Given the description of an element on the screen output the (x, y) to click on. 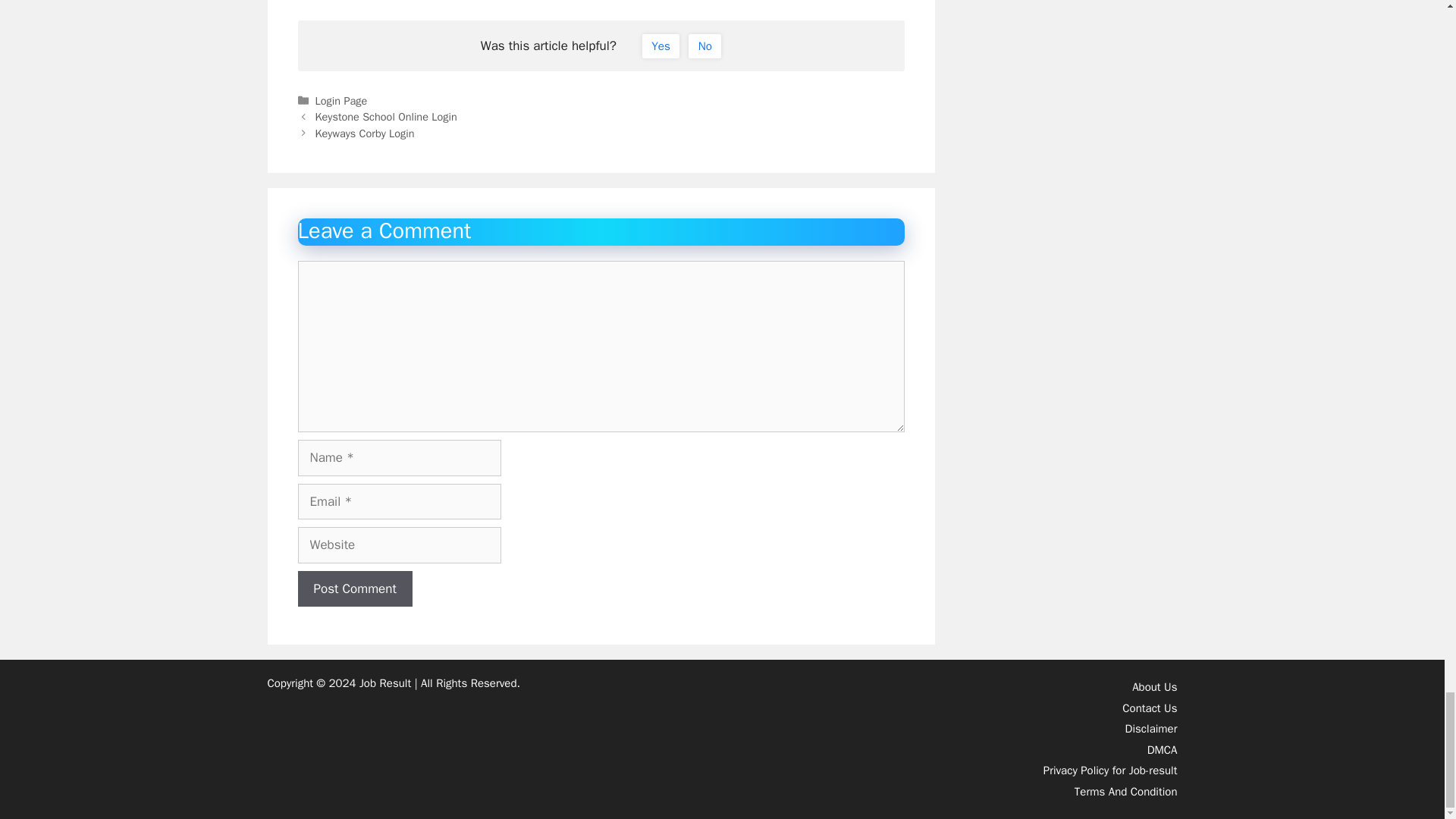
Post Comment (354, 588)
